Given the description of an element on the screen output the (x, y) to click on. 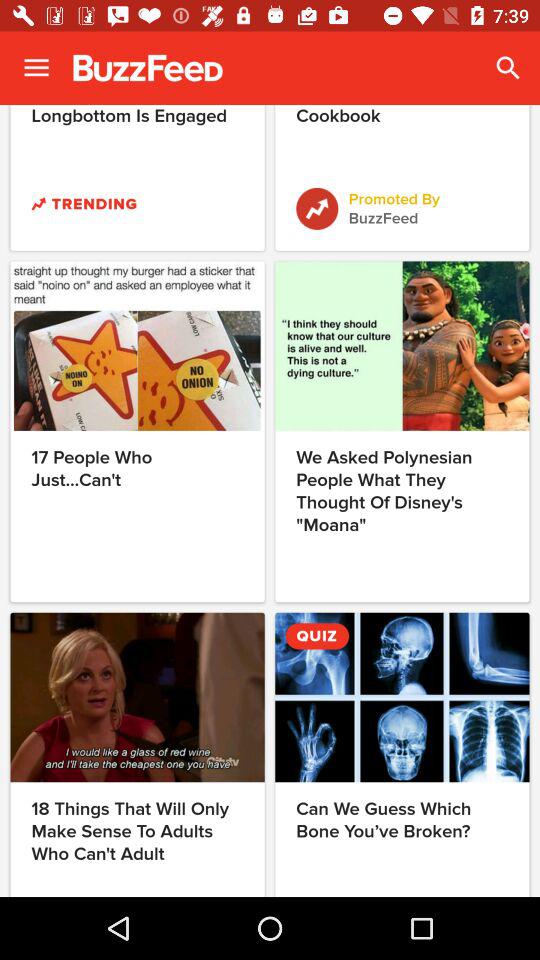
launch the icon next to the god damnit neville icon (508, 67)
